Given the description of an element on the screen output the (x, y) to click on. 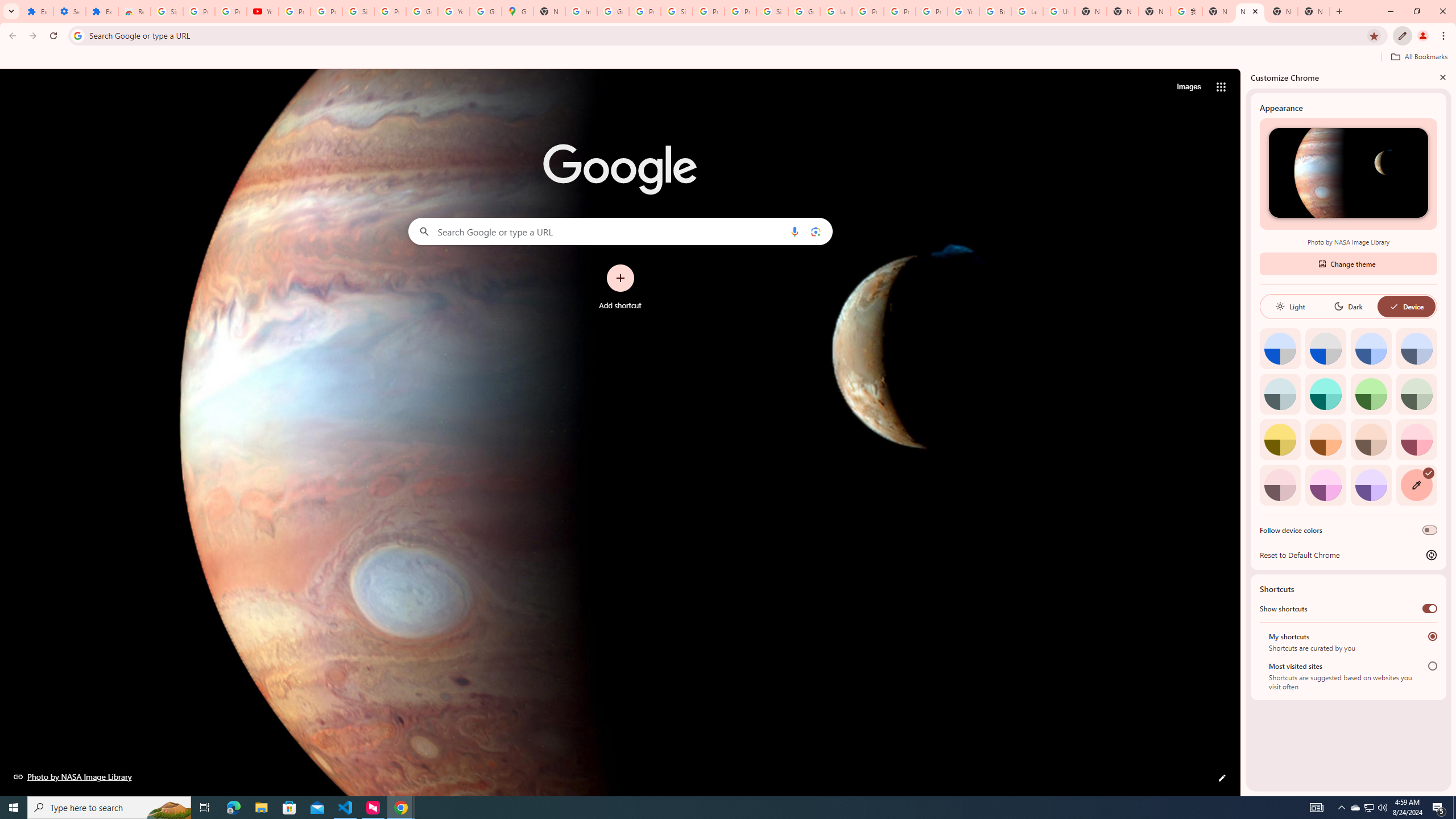
Sign in - Google Accounts (772, 11)
https://scholar.google.com/ (581, 11)
Search Google or type a URL (619, 230)
Google Account (421, 11)
YouTube (963, 11)
Sign in - Google Accounts (166, 11)
Google Maps (517, 11)
Search for Images  (1188, 87)
Sign in - Google Accounts (358, 11)
Extensions (101, 11)
Search icon (77, 35)
Extensions (37, 11)
